Given the description of an element on the screen output the (x, y) to click on. 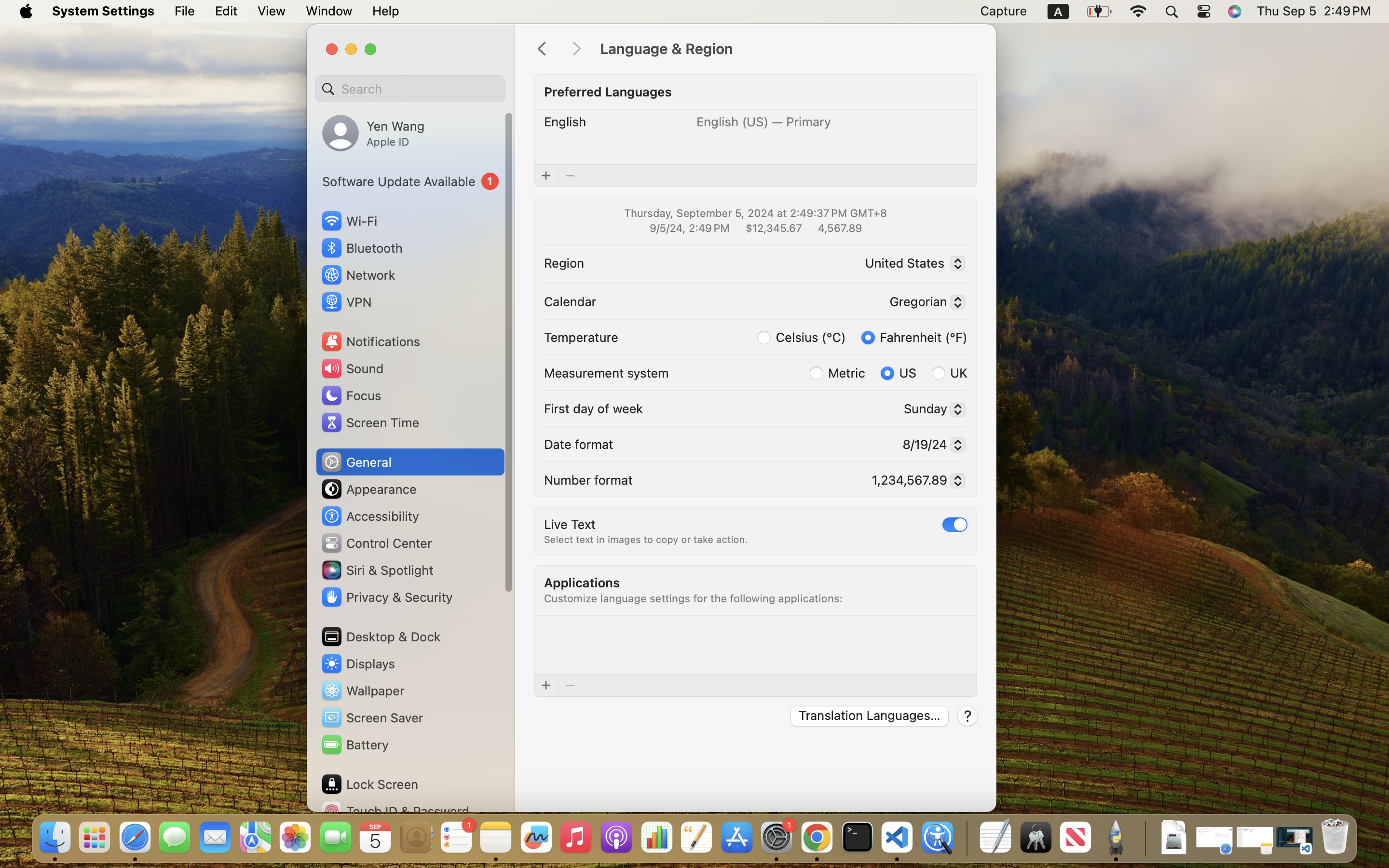
Displays Element type: AXStaticText (357, 663)
General Element type: AXStaticText (355, 461)
Privacy & Security Element type: AXStaticText (386, 596)
0.4285714328289032 Element type: AXDockItem (965, 837)
Region Element type: AXStaticText (564, 262)
